Given the description of an element on the screen output the (x, y) to click on. 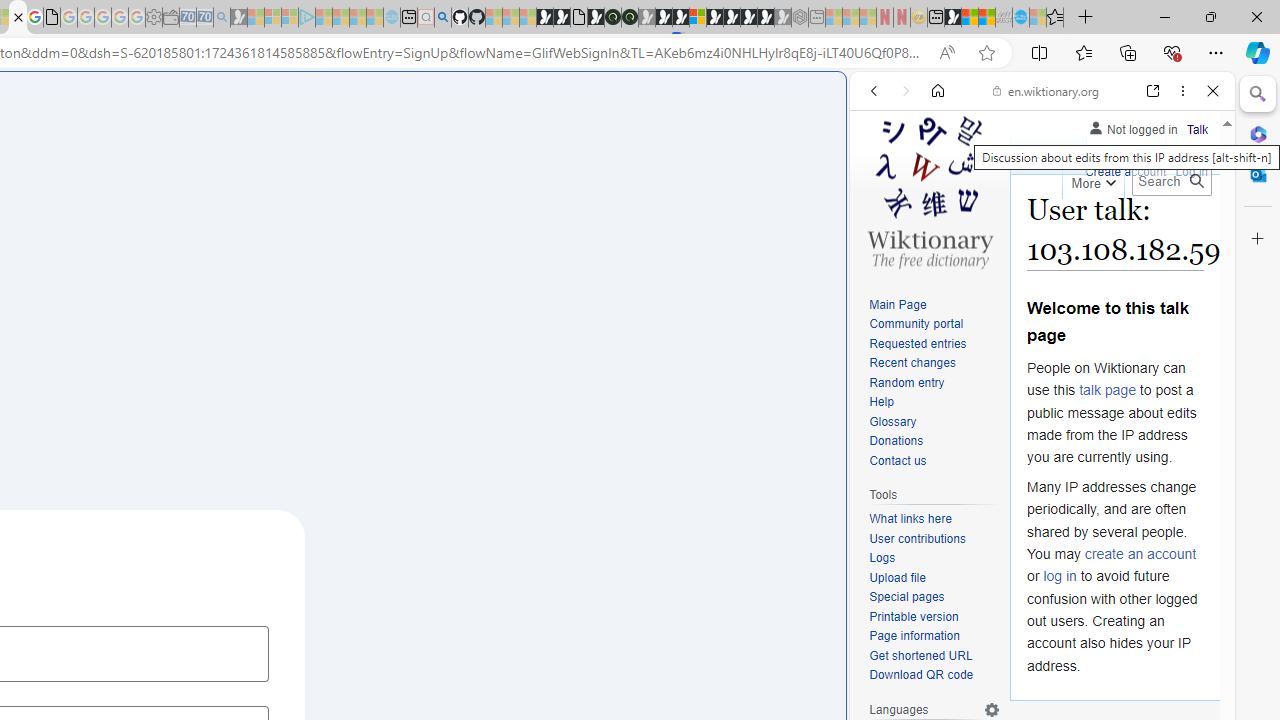
Log in (1191, 169)
Requested entries (934, 344)
Services - Maintenance | Sky Blue Bikes - Sky Blue Bikes (1020, 17)
Main Page (897, 303)
Page information (934, 637)
